Given the description of an element on the screen output the (x, y) to click on. 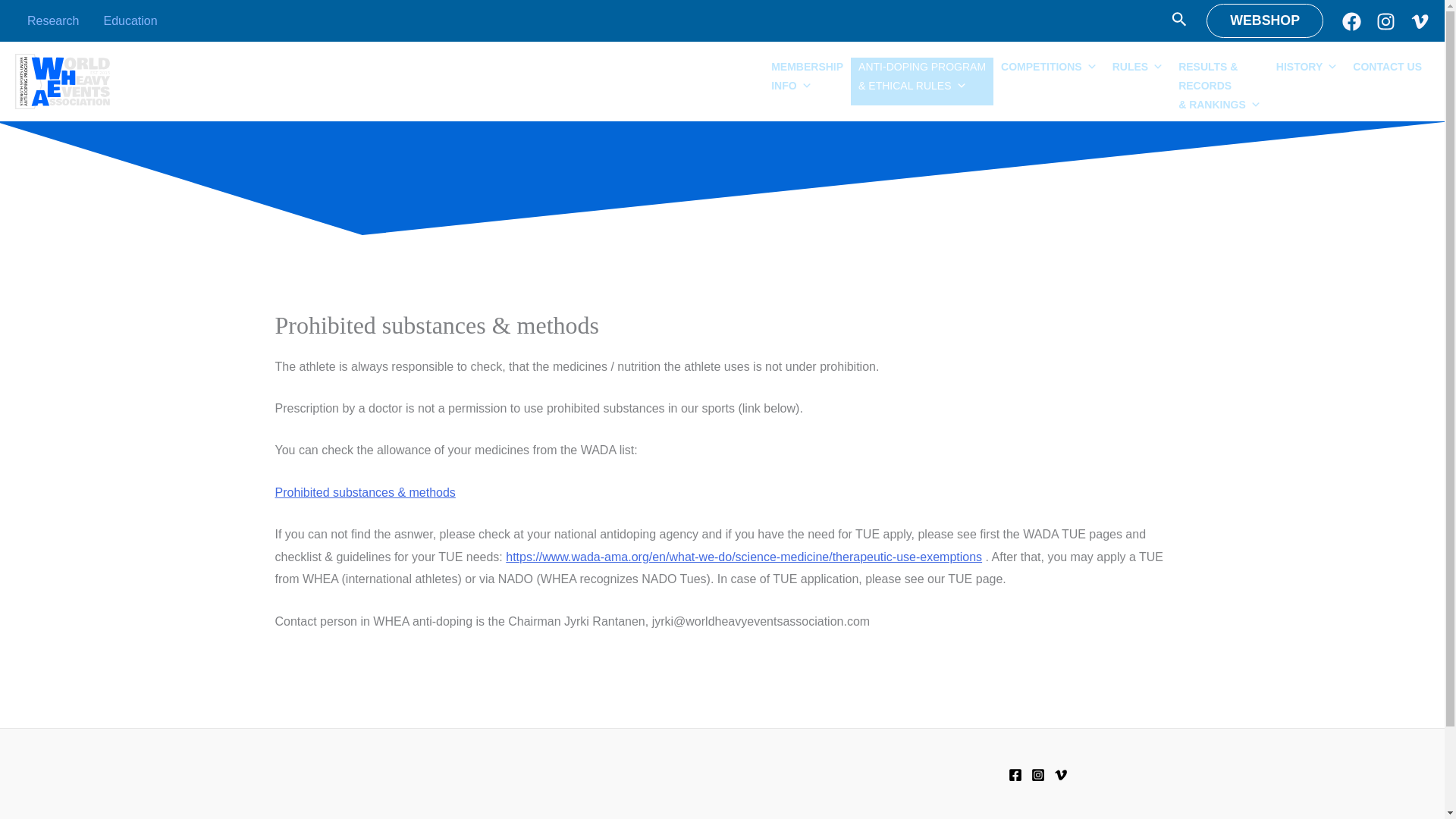
Research (52, 20)
WEBSHOP (806, 81)
RULES (1264, 20)
COMPETITIONS (1137, 81)
Education (1048, 81)
